Given the description of an element on the screen output the (x, y) to click on. 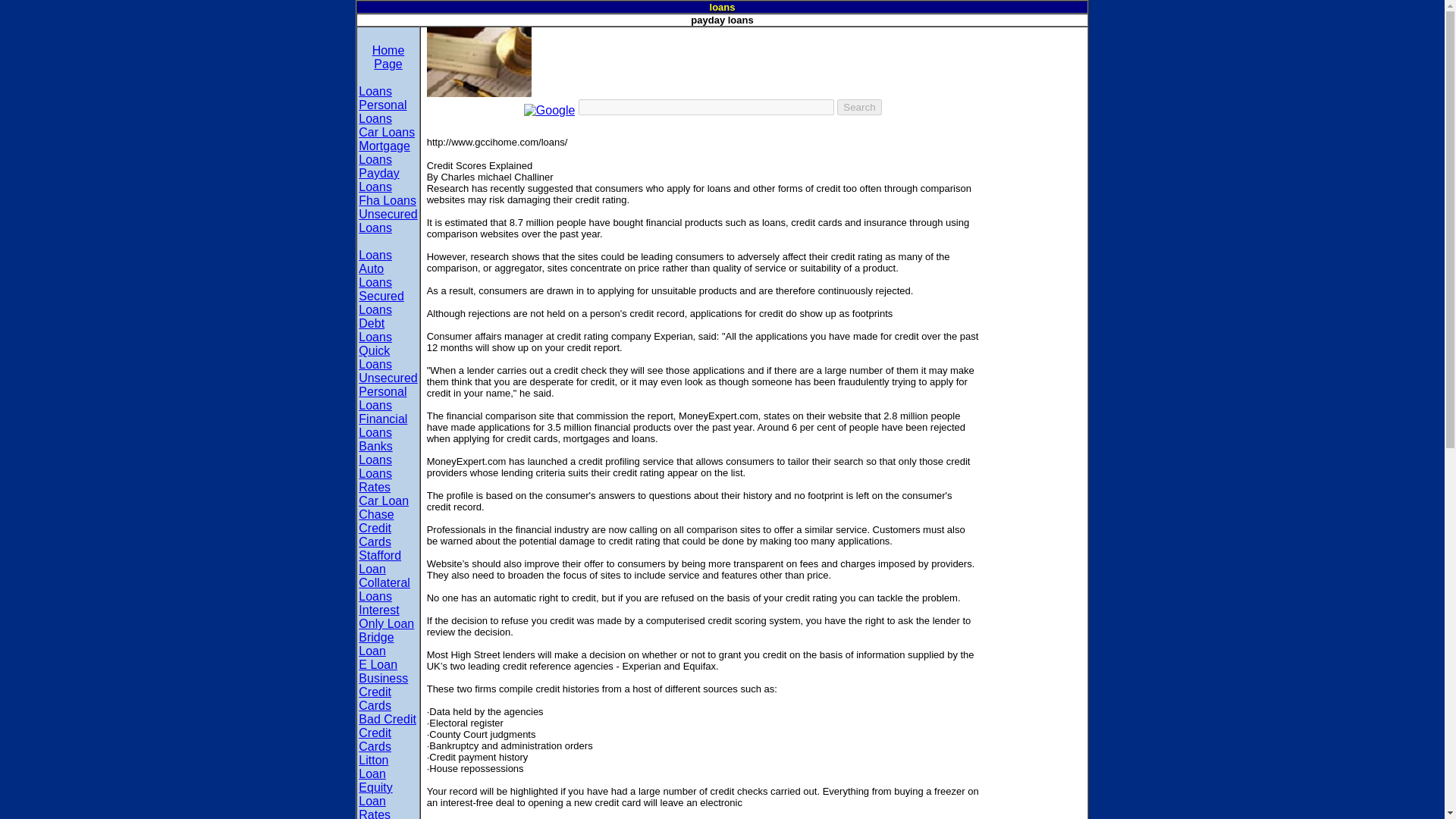
Unsecured Loans (387, 221)
Secured Loans (381, 302)
Payday Loans (378, 180)
Bad Credit Credit Cards (387, 732)
Auto Loans (374, 275)
Personal Loans (382, 111)
Search (858, 107)
Mortgage Loans (384, 152)
Car Loan (383, 500)
Home Page (388, 57)
